Given the description of an element on the screen output the (x, y) to click on. 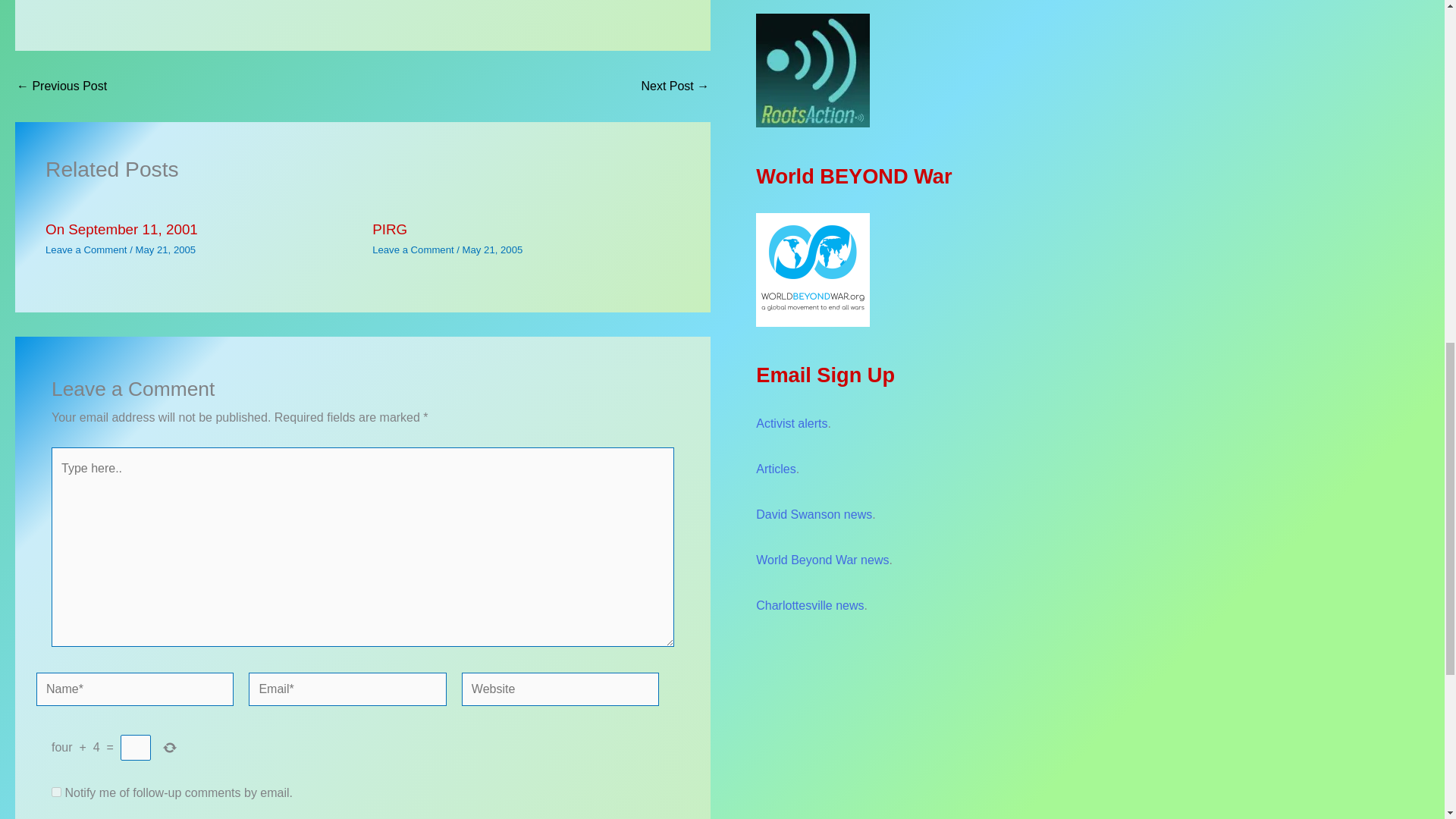
When Would You Say "Enough"? (674, 86)
subscribe (55, 791)
Impeachment for Christmas, Prosecution for New Year's (61, 86)
